Given the description of an element on the screen output the (x, y) to click on. 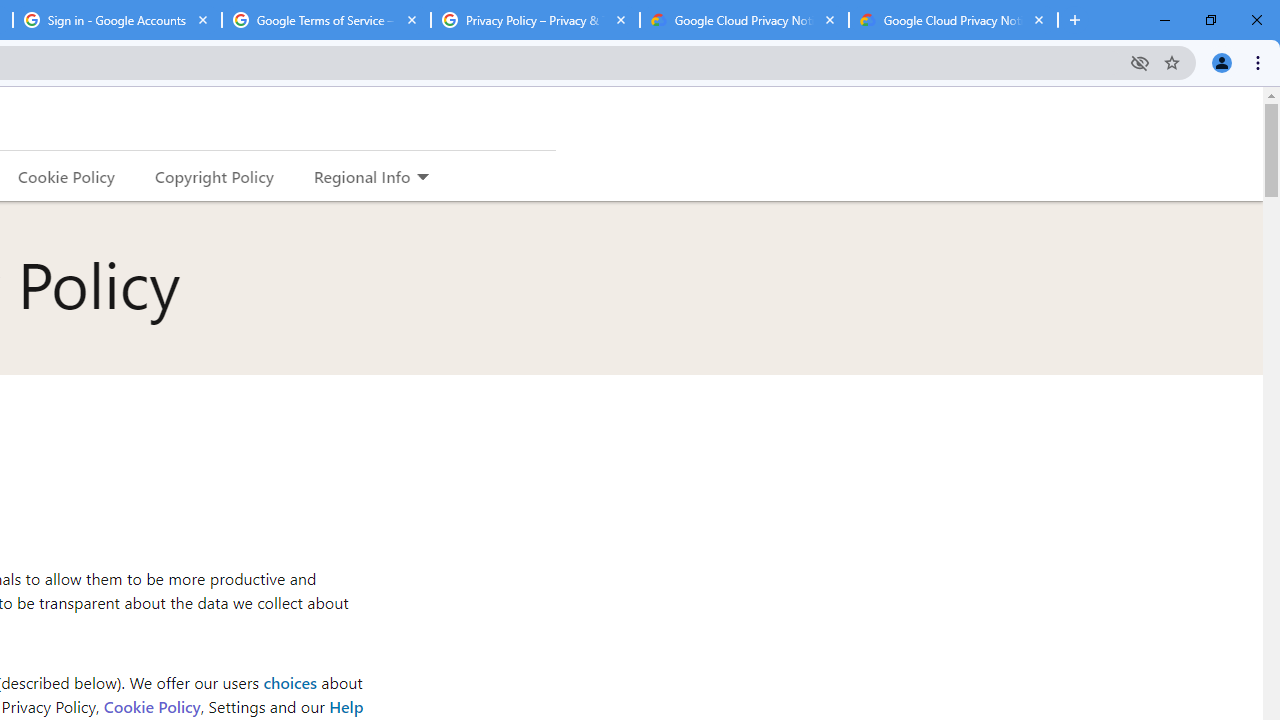
Google Cloud Privacy Notice (744, 20)
choices (289, 681)
Google Cloud Privacy Notice (953, 20)
Expand to show more links for Regional Info (422, 178)
Copyright Policy (213, 176)
Regional Info (361, 176)
Sign in - Google Accounts (116, 20)
